Given the description of an element on the screen output the (x, y) to click on. 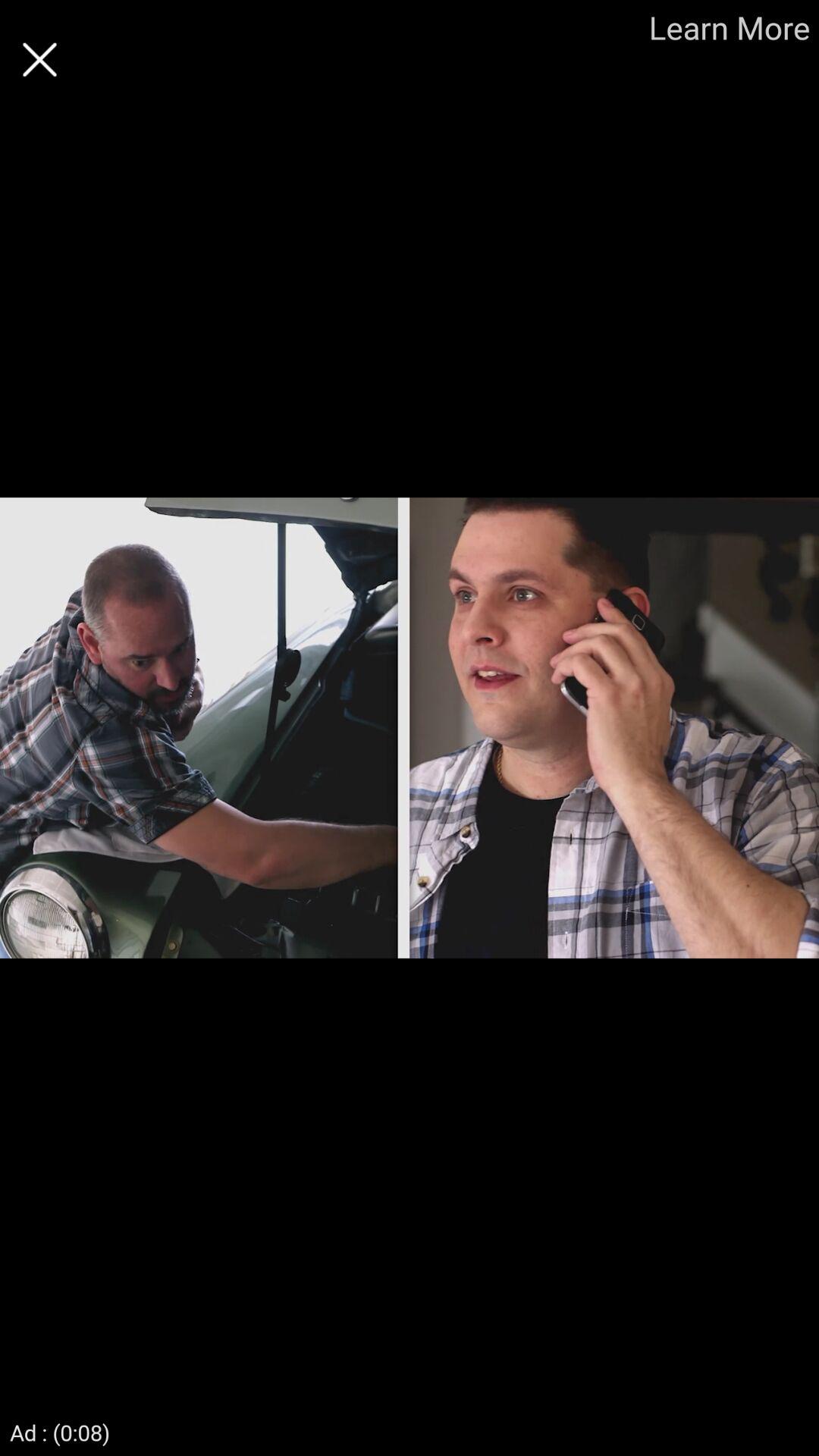
close advertisement (39, 59)
